Given the description of an element on the screen output the (x, y) to click on. 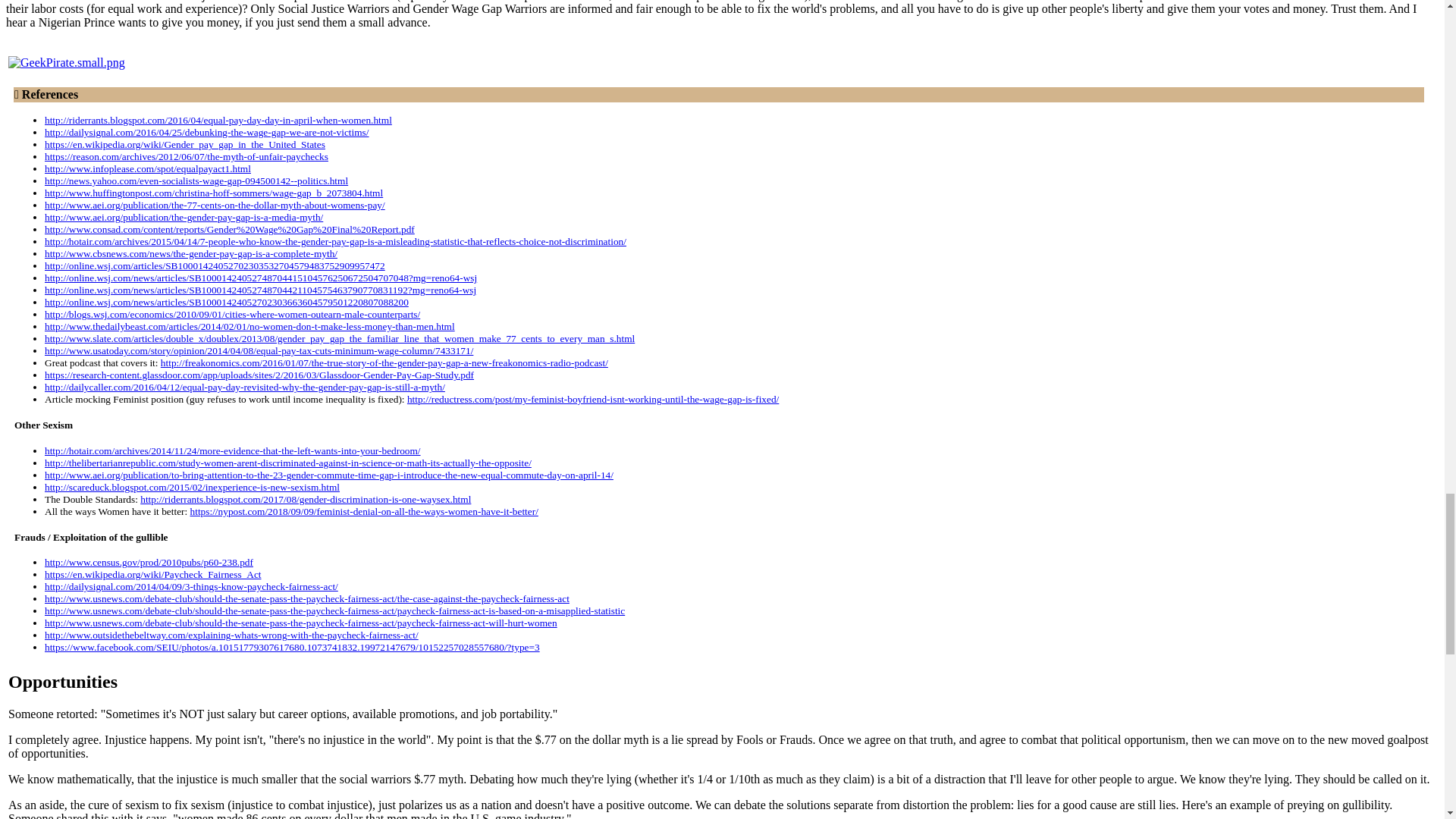
Main Page (66, 62)
